Given the description of an element on the screen output the (x, y) to click on. 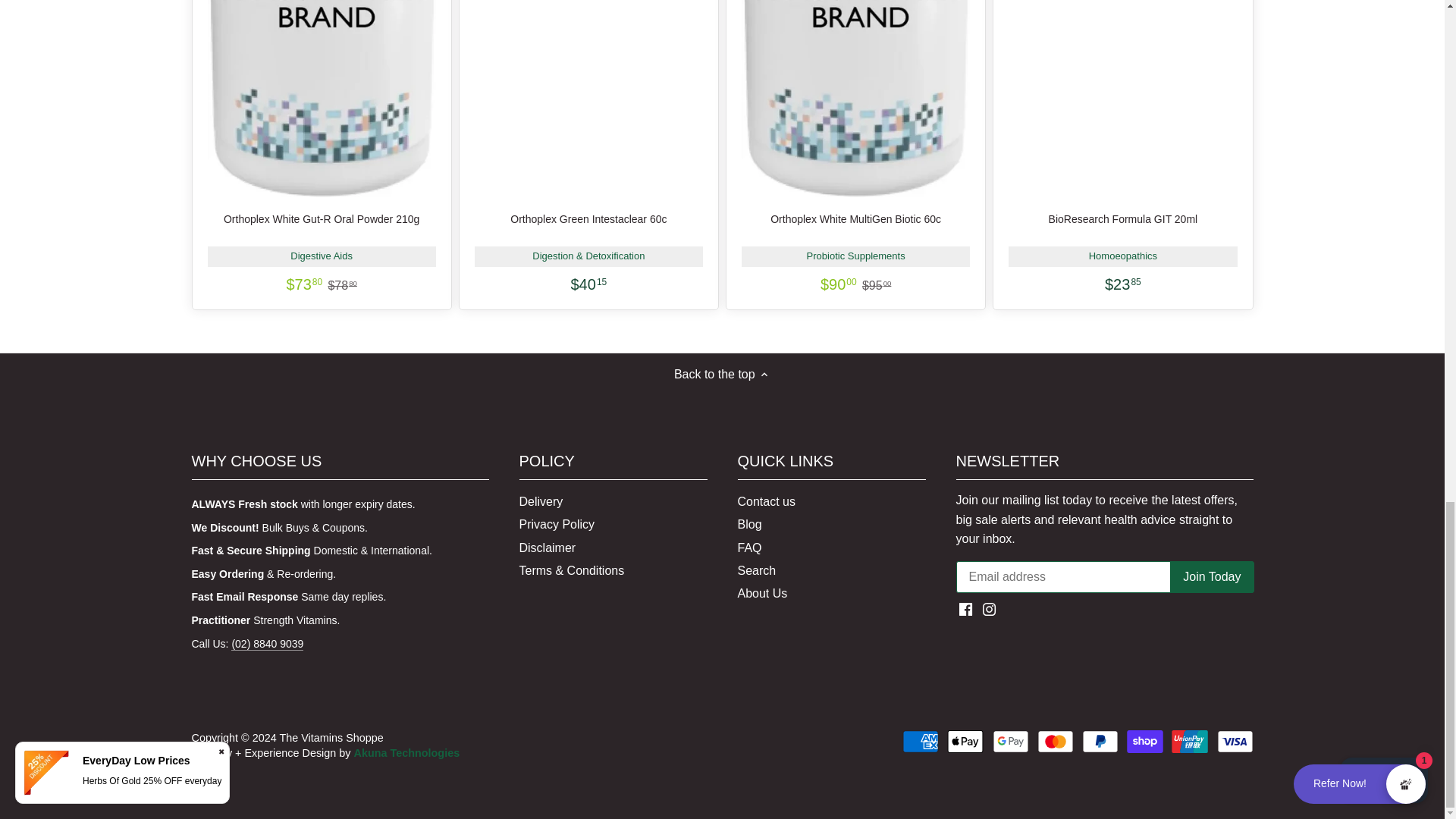
Facebook (965, 608)
Join Today (1211, 576)
